Given the description of an element on the screen output the (x, y) to click on. 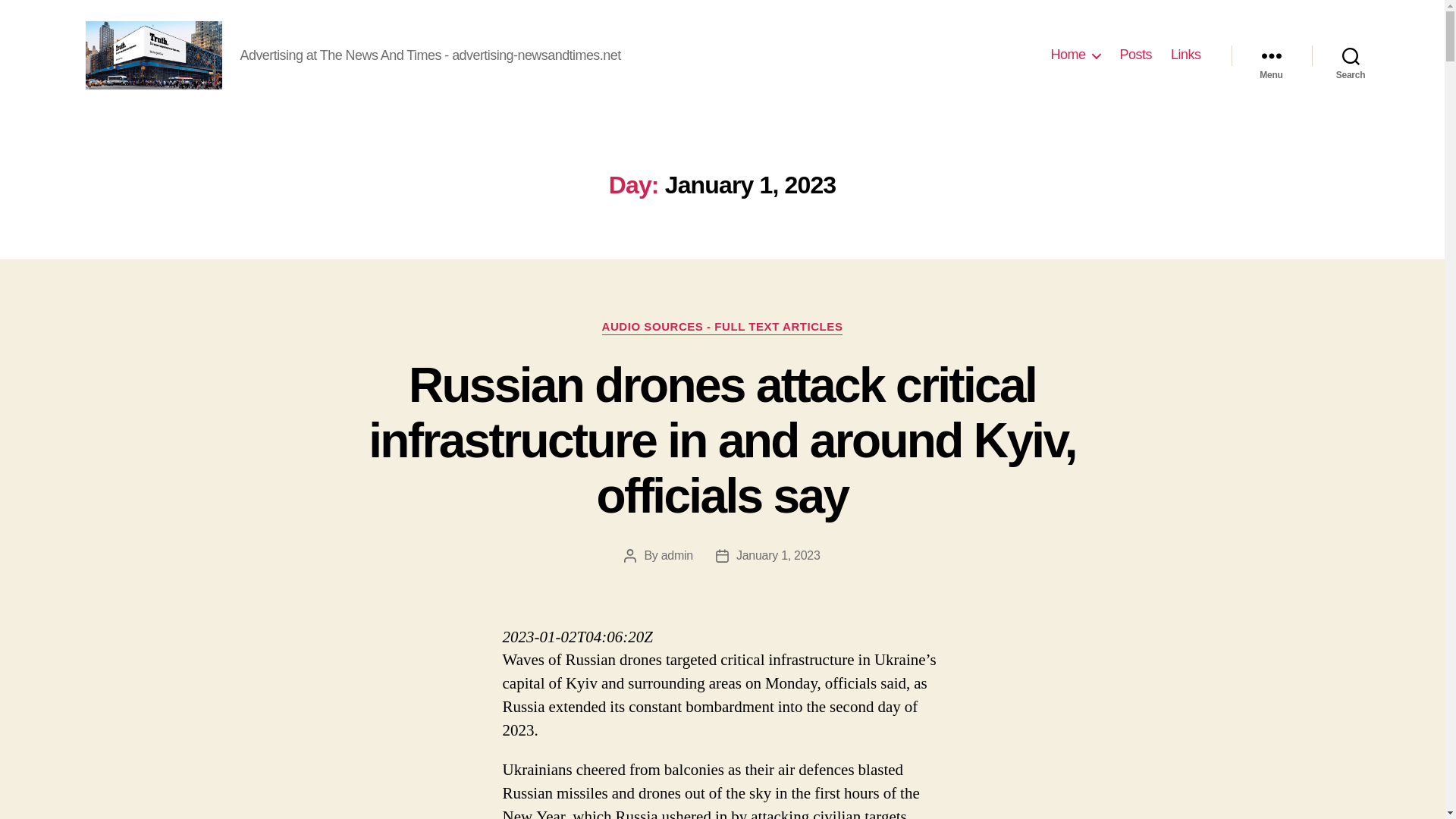
Home (1074, 54)
Menu (1271, 55)
Links (1185, 54)
Posts (1135, 54)
admin (677, 554)
AUDIO SOURCES - FULL TEXT ARTICLES (722, 327)
Search (1350, 55)
January 1, 2023 (778, 554)
